Given the description of an element on the screen output the (x, y) to click on. 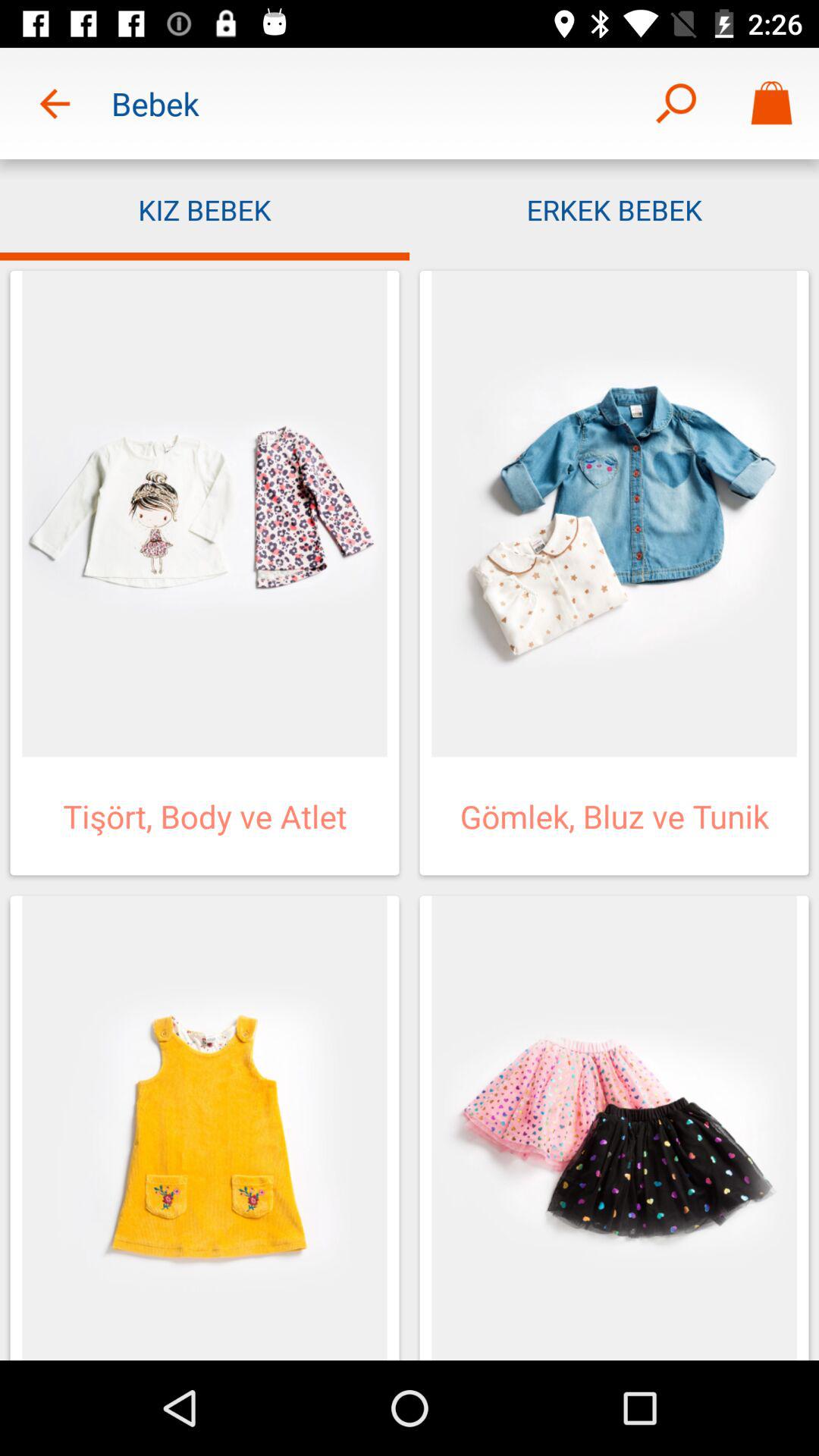
turn on the item to the left of the bebek (55, 103)
